Given the description of an element on the screen output the (x, y) to click on. 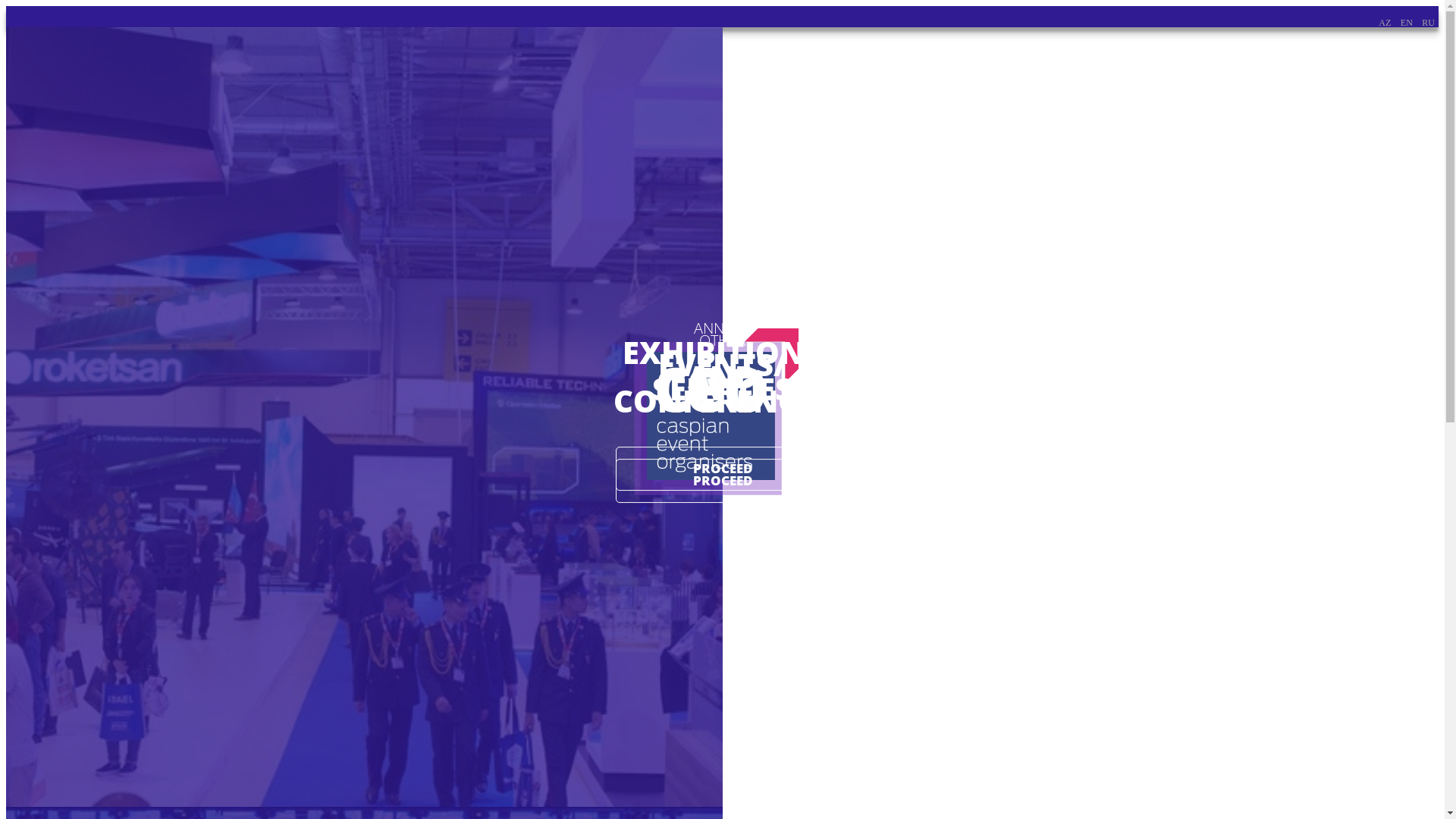
ANNUAL
EXHIBITIONS
AND
CONFERENCES
PROCEED Element type: text (364, 416)
PROCEED Element type: text (721, 468)
PROCEED Element type: text (721, 480)
RU Element type: text (1427, 22)
EN Element type: text (1406, 22)
AZ Element type: text (1384, 22)
